Given the description of an element on the screen output the (x, y) to click on. 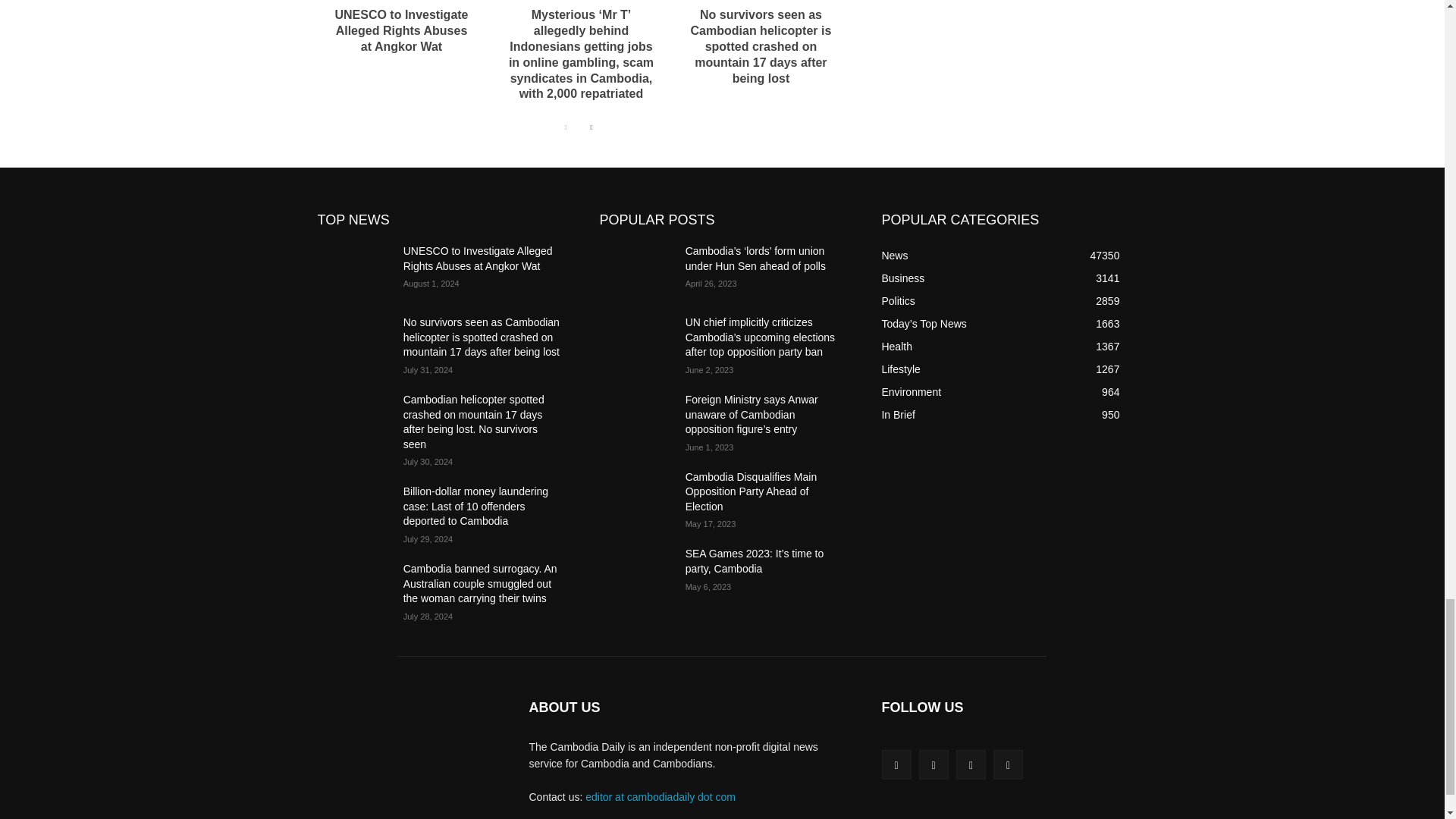
UNESCO to Investigate Alleged Rights Abuses at Angkor Wat (400, 30)
UNESCO to Investigate Alleged Rights Abuses at Angkor Wat (400, 30)
